Given the description of an element on the screen output the (x, y) to click on. 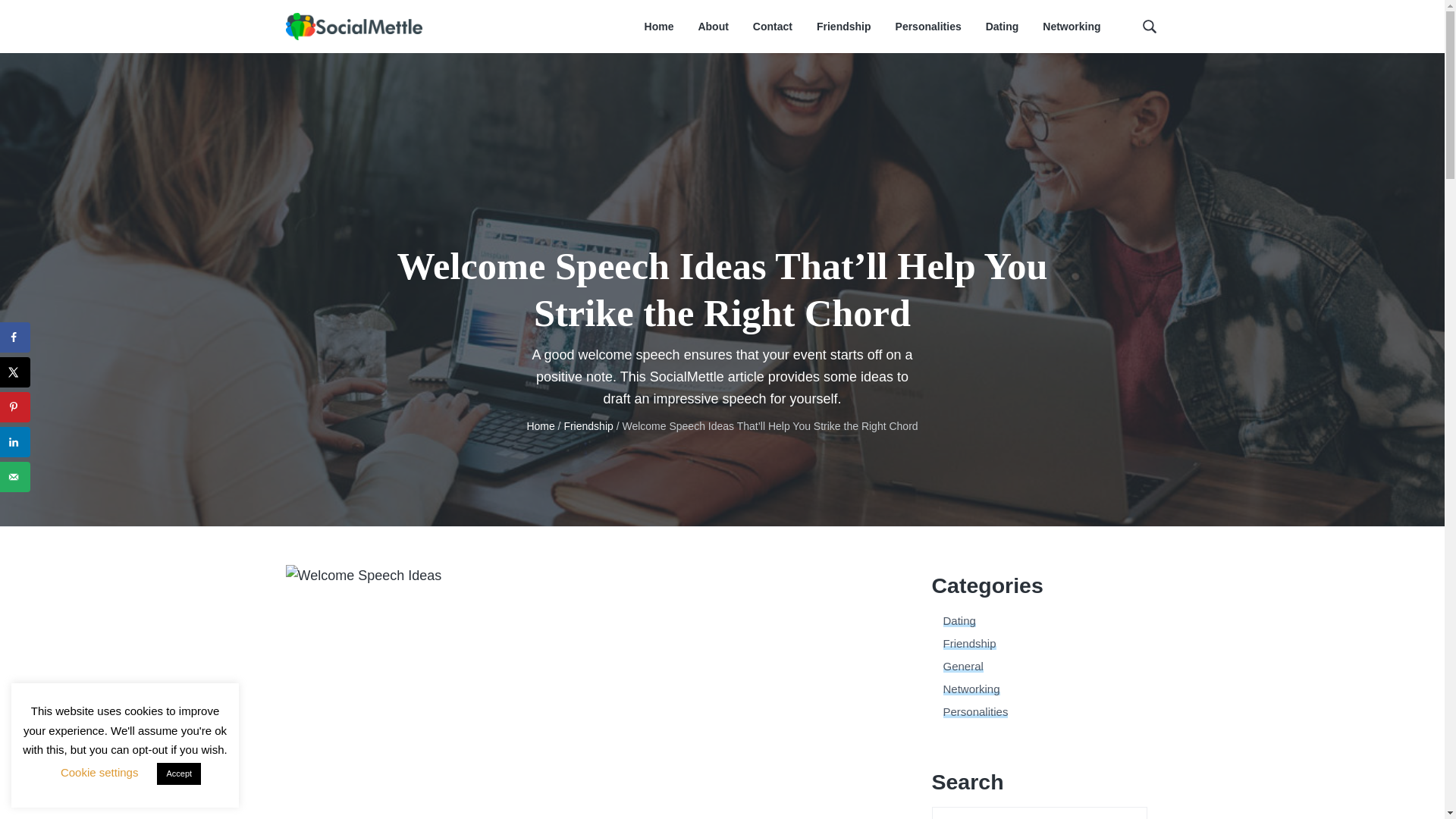
Share on Facebook (15, 337)
Dating (1002, 27)
General (963, 666)
Personalities (927, 27)
Contact (772, 27)
Networking (971, 688)
Networking (1071, 27)
Dating (959, 620)
Friendship (587, 426)
Save to Pinterest (15, 407)
Share on X (15, 372)
Friendship (969, 643)
Search (60, 18)
Home (659, 27)
About (712, 27)
